Given the description of an element on the screen output the (x, y) to click on. 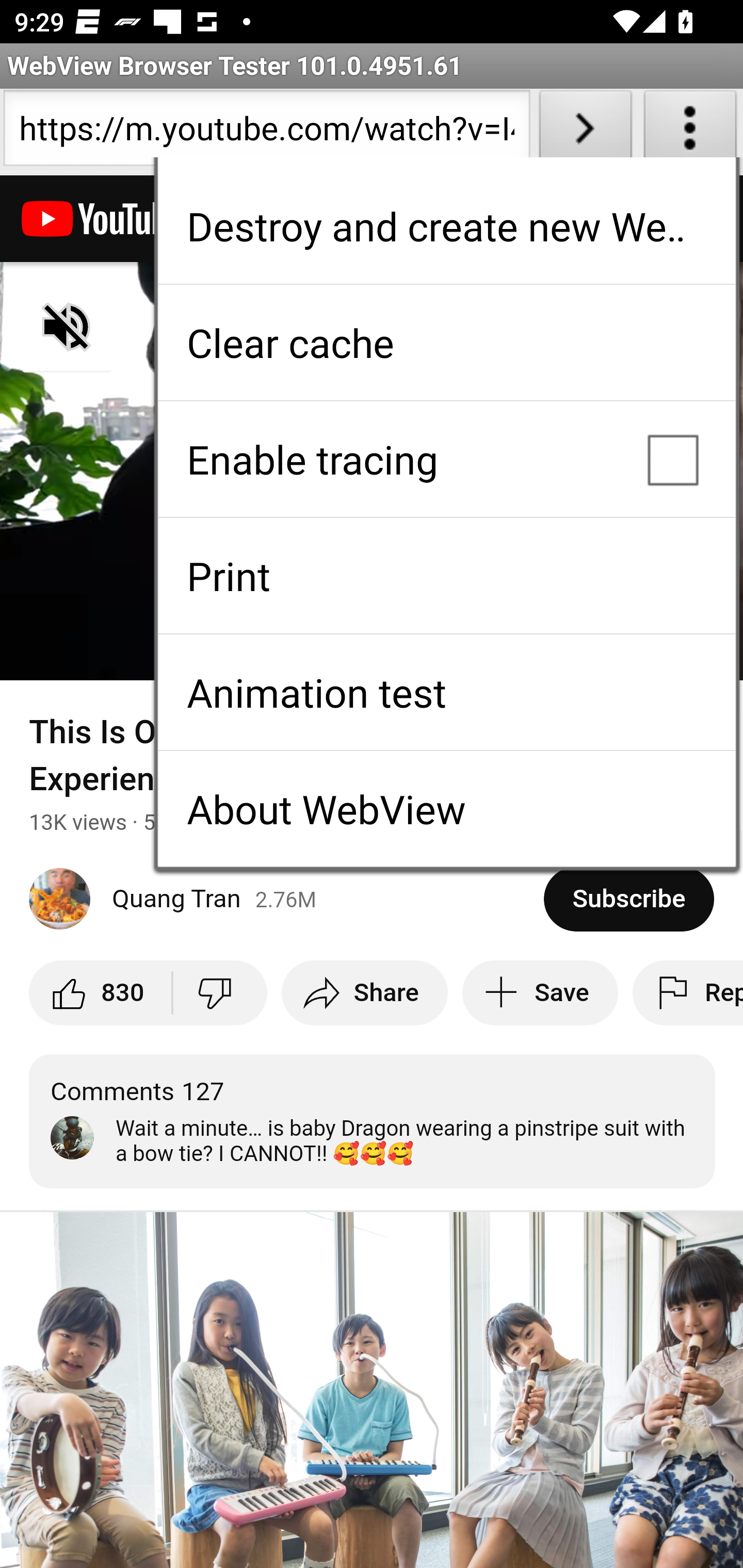
Destroy and create new WebView (446, 225)
Clear cache (446, 342)
Enable tracing (446, 459)
Print (446, 575)
Animation test (446, 692)
About WebView (446, 809)
